Given the description of an element on the screen output the (x, y) to click on. 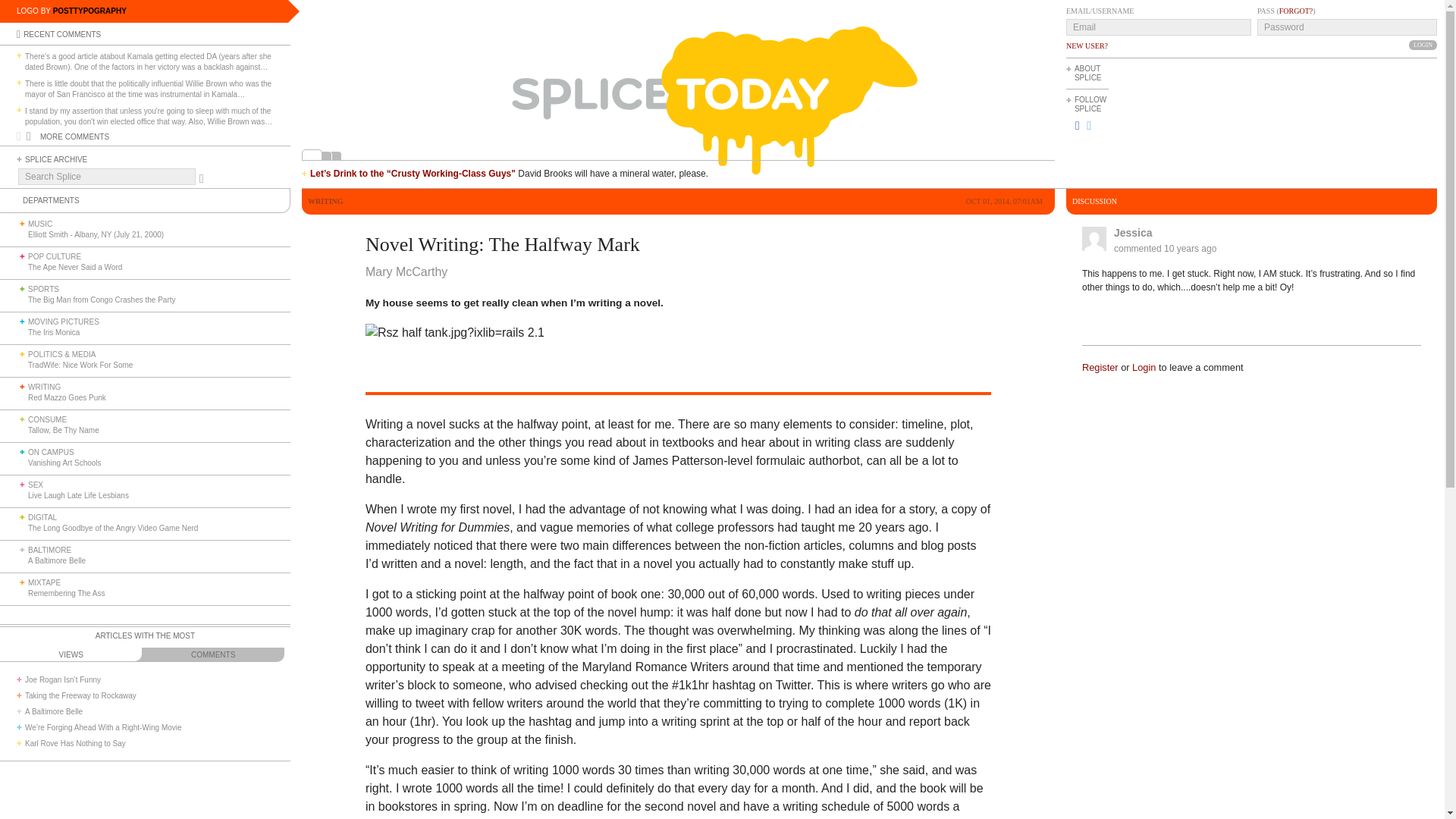
The Ape Never Said a Word (74, 266)
ON CAMPUS (50, 451)
The Iris Monica (53, 332)
WRITING (44, 387)
TradWife: Nice Work For Some (79, 365)
MUSIC (39, 224)
Tallow, Be Thy Name (63, 429)
Vanishing Art Schools (64, 462)
The Big Man from Congo Crashes the Party (101, 299)
CONSUME (46, 419)
